Given the description of an element on the screen output the (x, y) to click on. 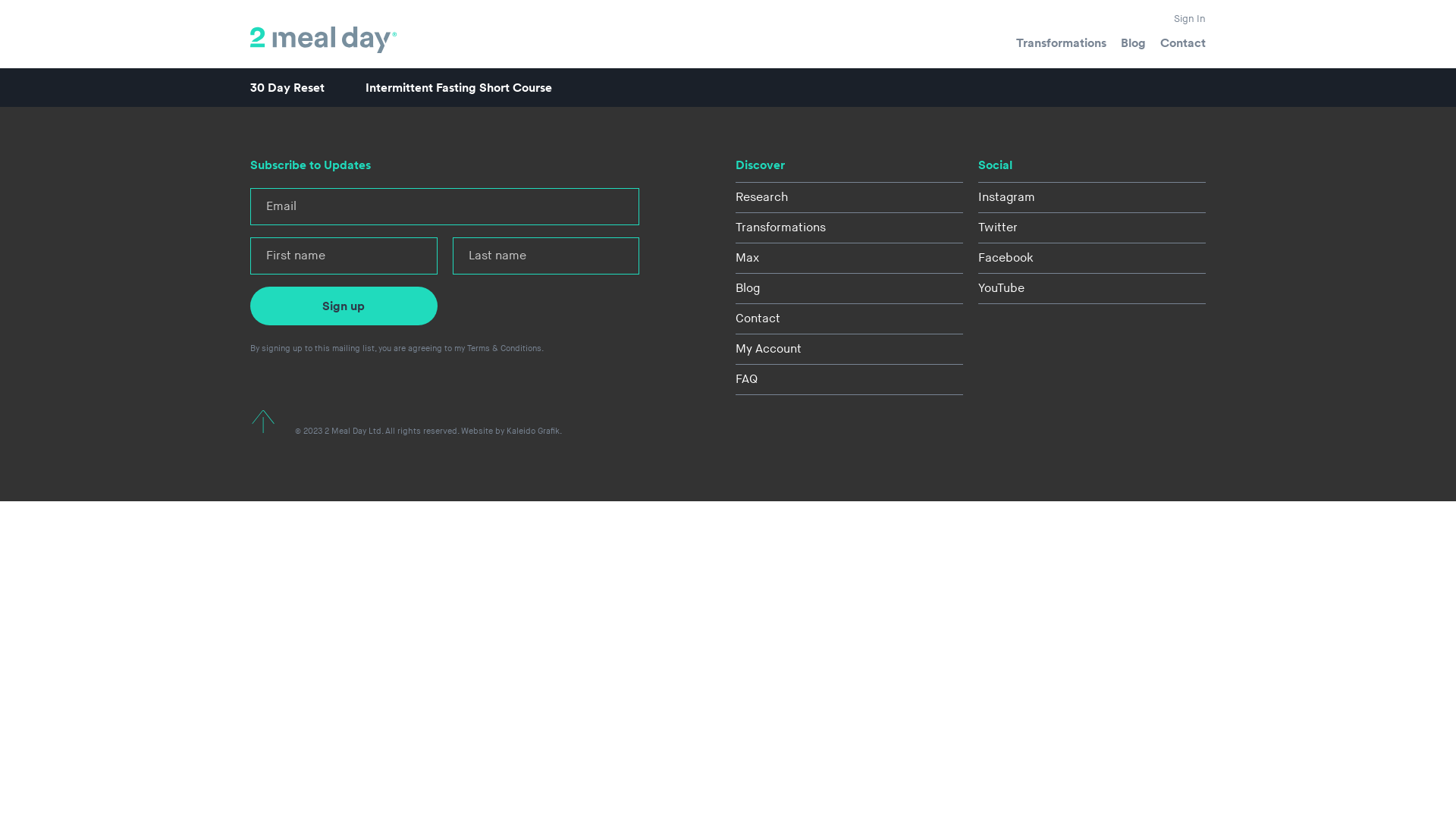
YouTube Element type: text (1091, 288)
My Account Element type: text (849, 349)
Transformations Element type: text (1061, 43)
2 Meal Day Element type: text (324, 39)
Sign In Element type: text (1189, 18)
Facebook Element type: text (1091, 258)
Kaleido Grafik Element type: text (532, 430)
Contact Element type: text (1182, 43)
Instagram Element type: text (1091, 197)
Twitter Element type: text (1091, 227)
30 Day Reset Element type: text (287, 87)
FAQ Element type: text (849, 379)
Research Element type: text (849, 197)
Max Element type: text (849, 258)
Intermittent Fasting Short Course Element type: text (458, 87)
Transformations Element type: text (849, 227)
Terms & Conditions Element type: text (504, 348)
Sign up Element type: text (343, 305)
Blog Element type: text (849, 288)
Contact Element type: text (849, 318)
Blog Element type: text (1132, 43)
